Given the description of an element on the screen output the (x, y) to click on. 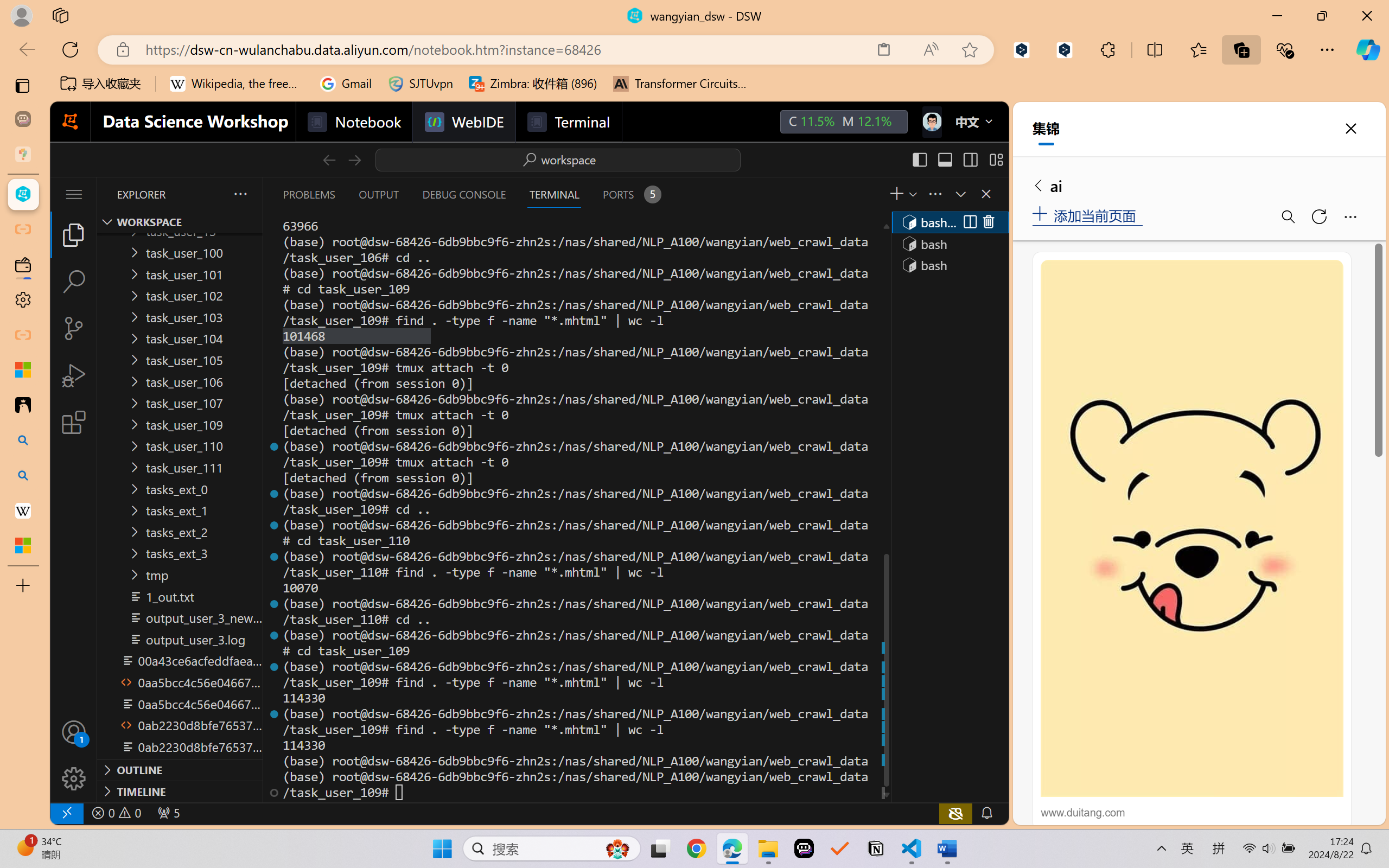
Gmail (345, 83)
Timeline Section (179, 791)
Terminal 3 bash (949, 264)
Earth - Wikipedia (22, 510)
Close Panel (986, 193)
Go Forward (Alt+RightArrow) (354, 159)
